Given the description of an element on the screen output the (x, y) to click on. 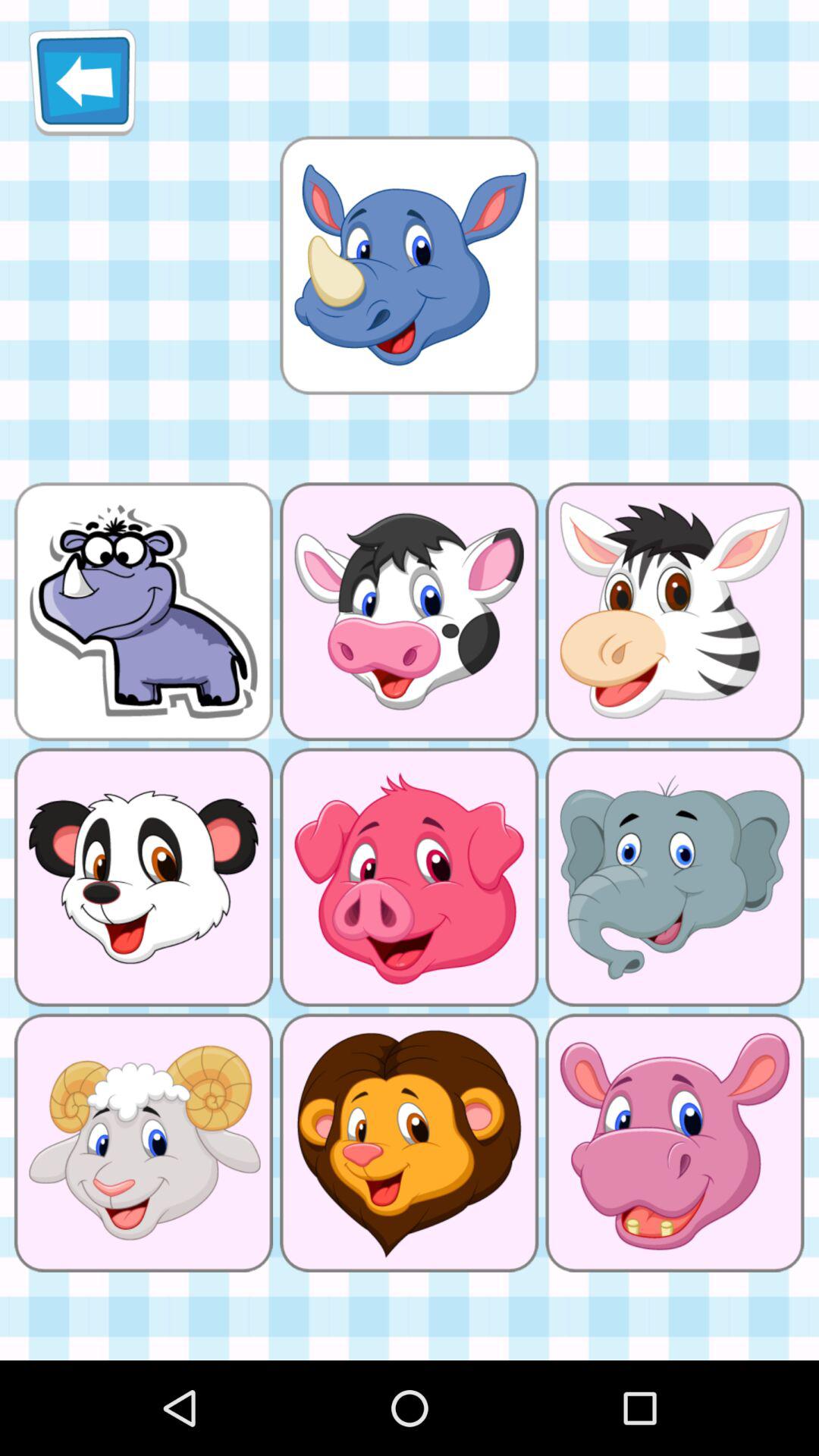
open the item at the top left corner (82, 82)
